Given the description of an element on the screen output the (x, y) to click on. 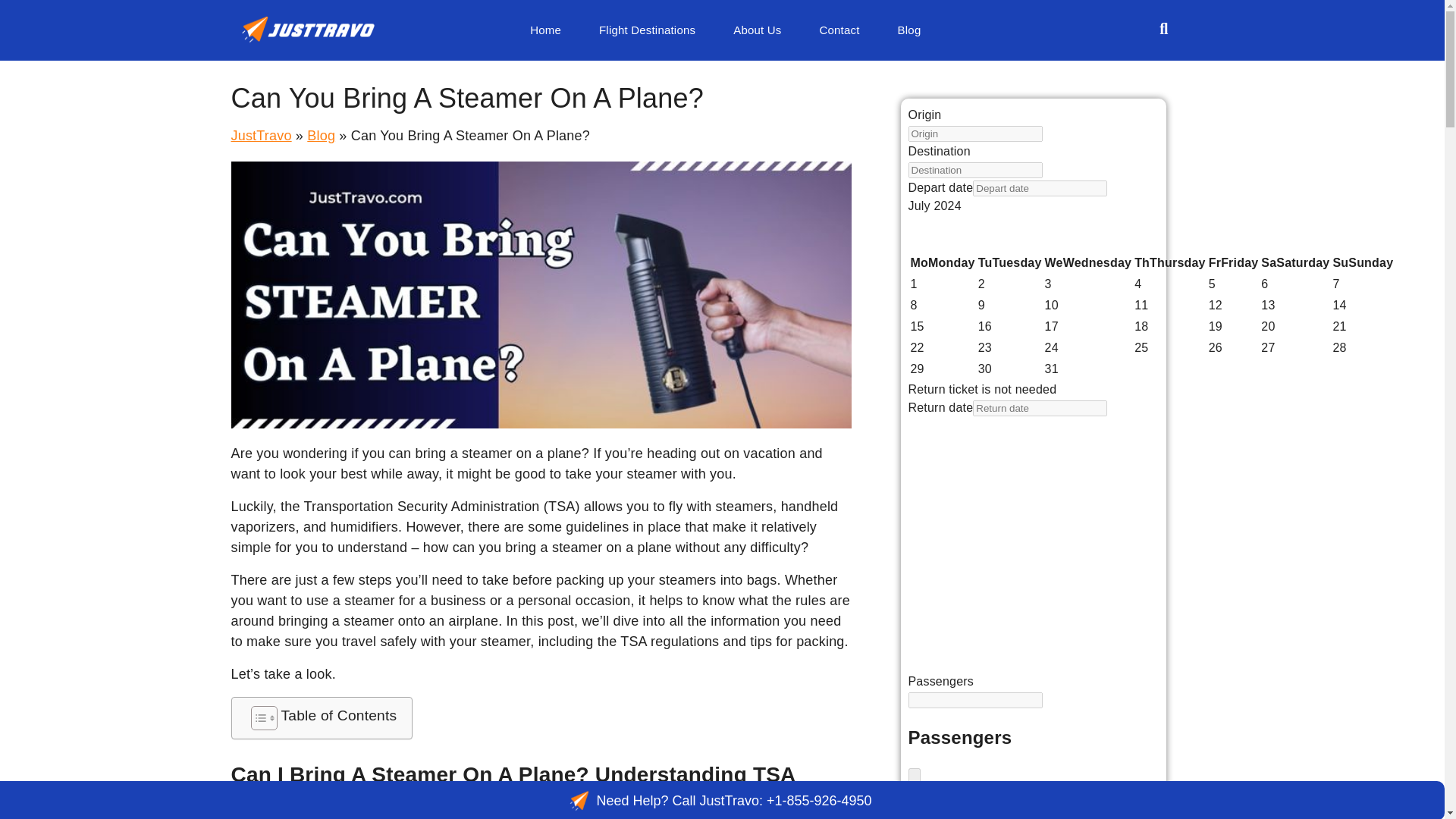
Blog (909, 29)
Contact (838, 29)
Home (544, 29)
About Us (756, 29)
Flight Destinations (646, 29)
